Given the description of an element on the screen output the (x, y) to click on. 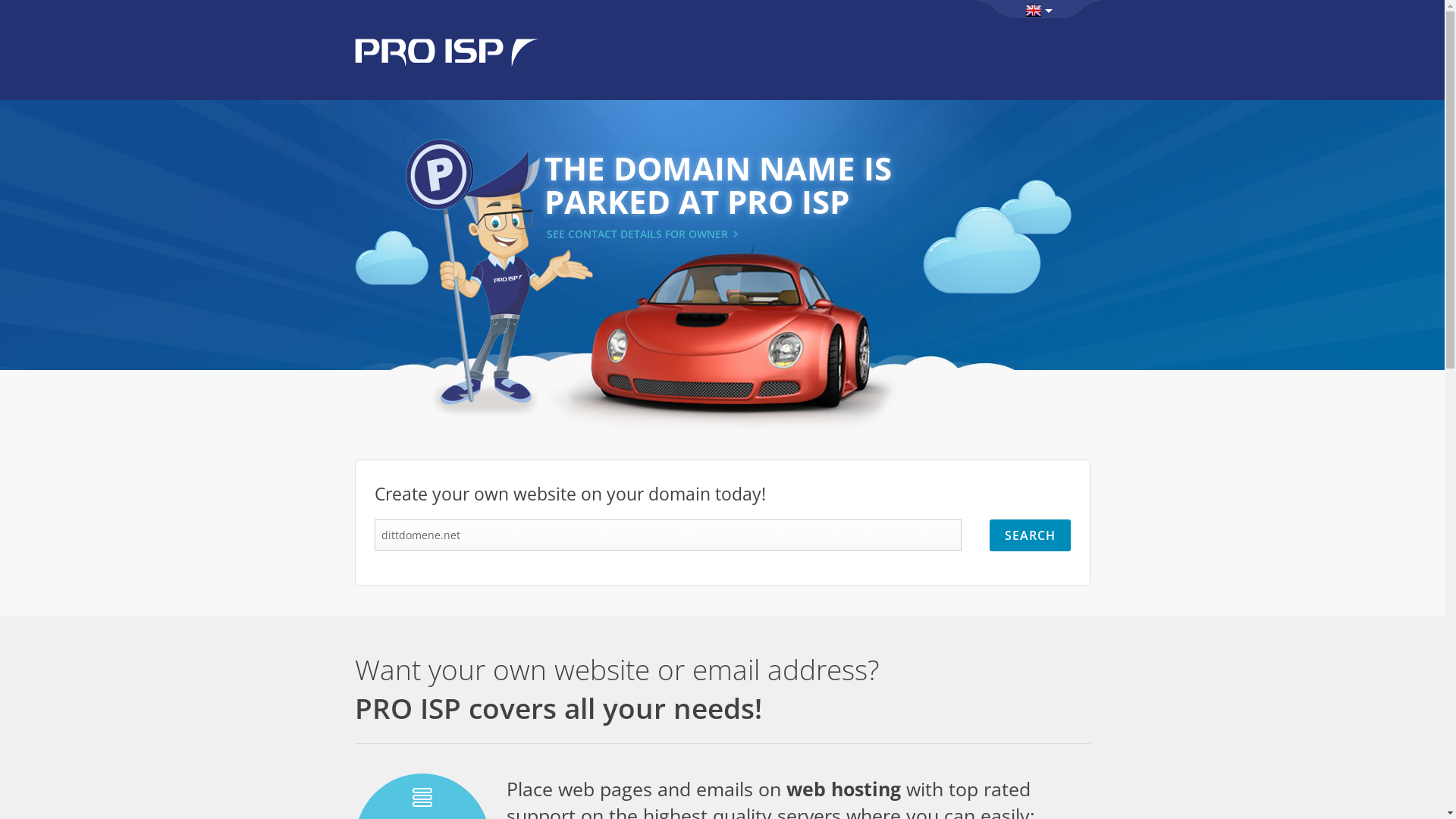
SEARCH Element type: text (1029, 535)
SEE CONTACT DETAILS FOR OWNER Element type: text (638, 233)
